Given the description of an element on the screen output the (x, y) to click on. 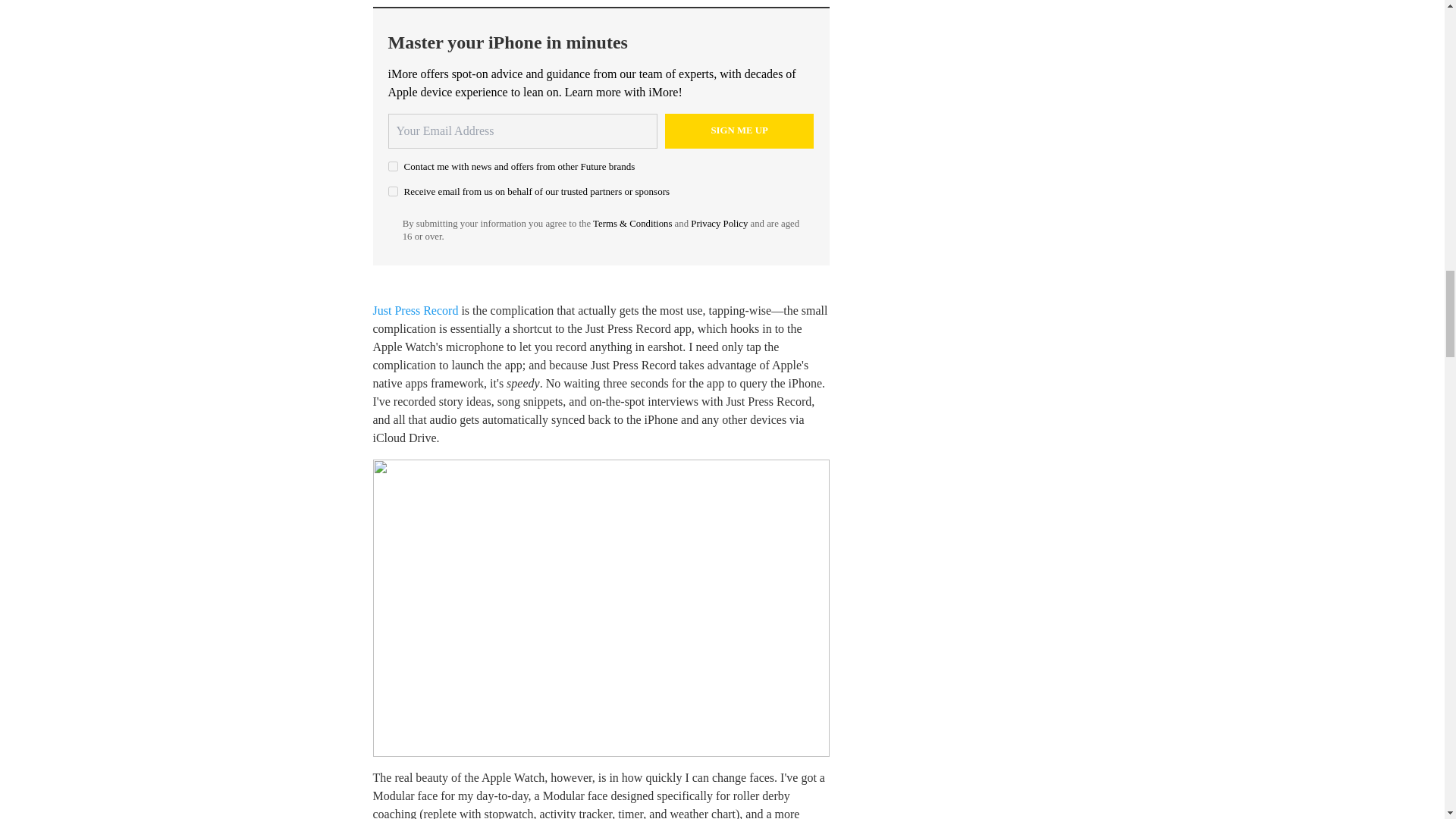
on (392, 191)
on (392, 166)
Sign me up (739, 130)
